Given the description of an element on the screen output the (x, y) to click on. 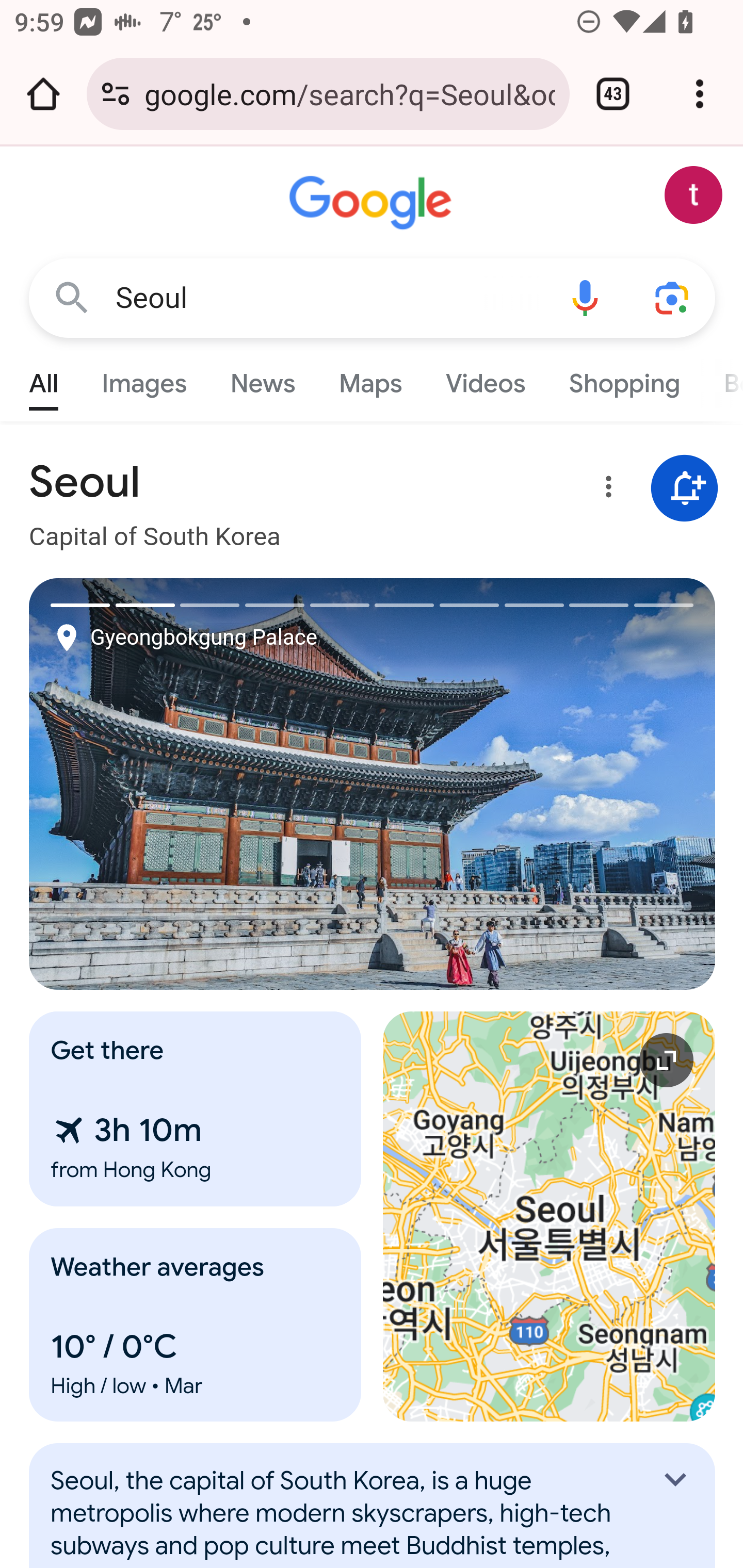
Open the home page (43, 93)
Connection is secure (115, 93)
Switch or close tabs (612, 93)
Customize and control Google Chrome (699, 93)
Google (372, 203)
Google Search (71, 296)
Search using your camera or photos (672, 296)
Seoul (328, 297)
Images (144, 378)
News (262, 378)
Maps (369, 378)
Videos (485, 378)
Shopping (623, 378)
Get notifications about Seoul (684, 489)
More options (605, 489)
Previous image (200, 783)
Next image (544, 783)
Expand map (549, 1216)
Weather averages 10° / 0°C High / low • Mar (195, 1324)
